Given the description of an element on the screen output the (x, y) to click on. 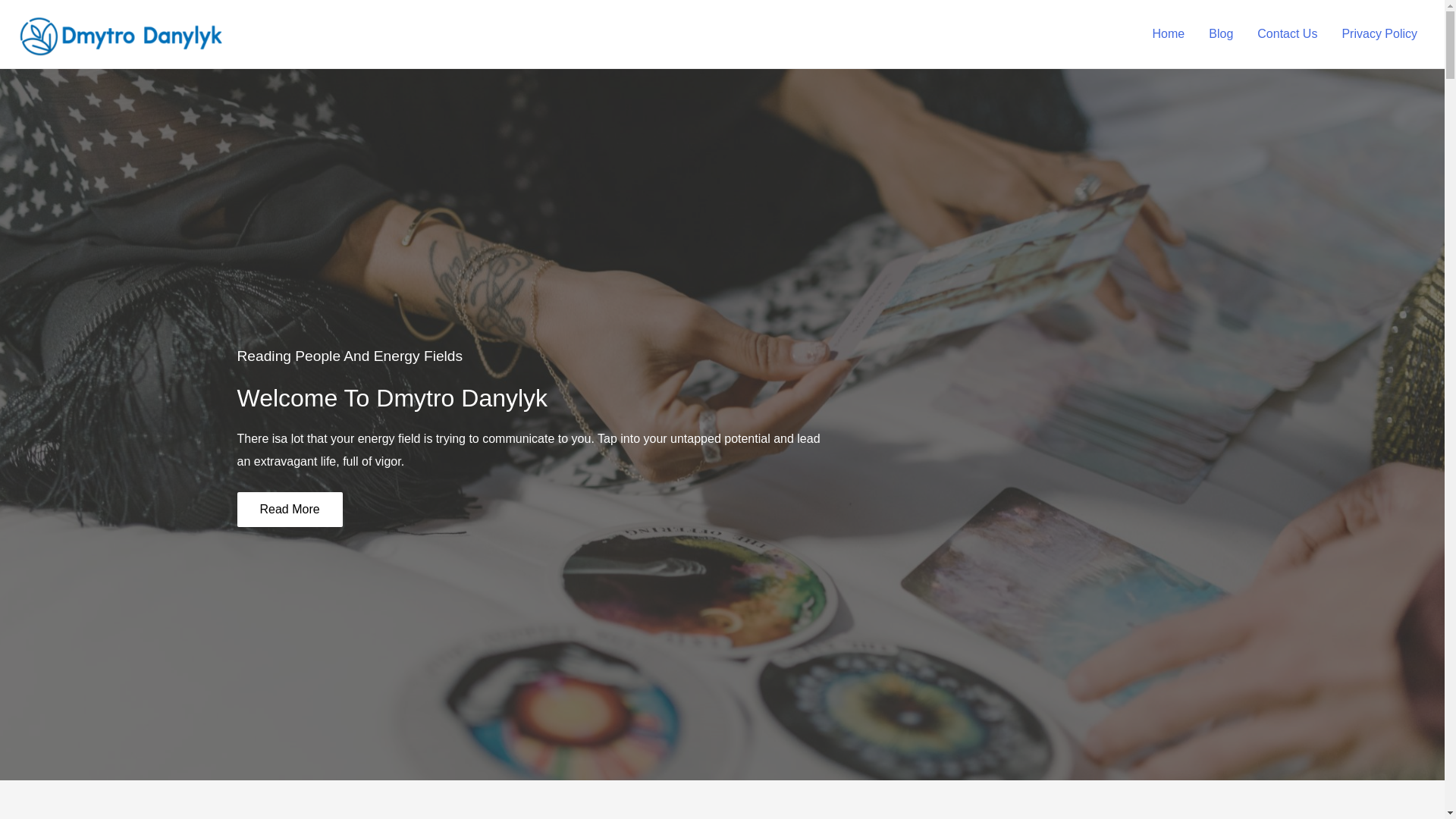
Privacy Policy (1379, 33)
Blog (1220, 33)
Contact Us (1286, 33)
Home (1168, 33)
Read More (288, 509)
